Given the description of an element on the screen output the (x, y) to click on. 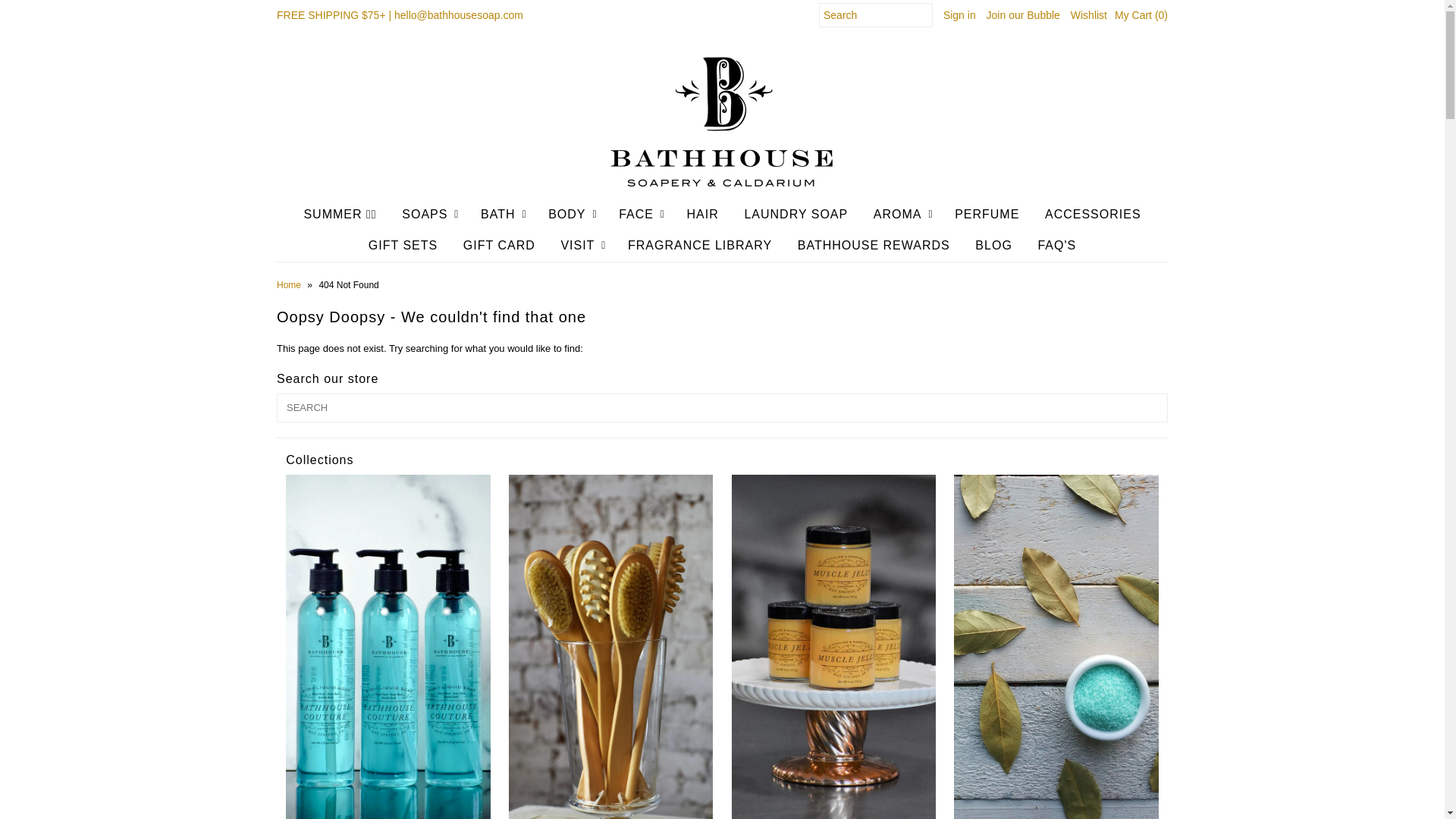
Wishlist (1088, 15)
SOAPS (424, 214)
Join our Bubble (1023, 15)
Sign in (959, 15)
